Given the description of an element on the screen output the (x, y) to click on. 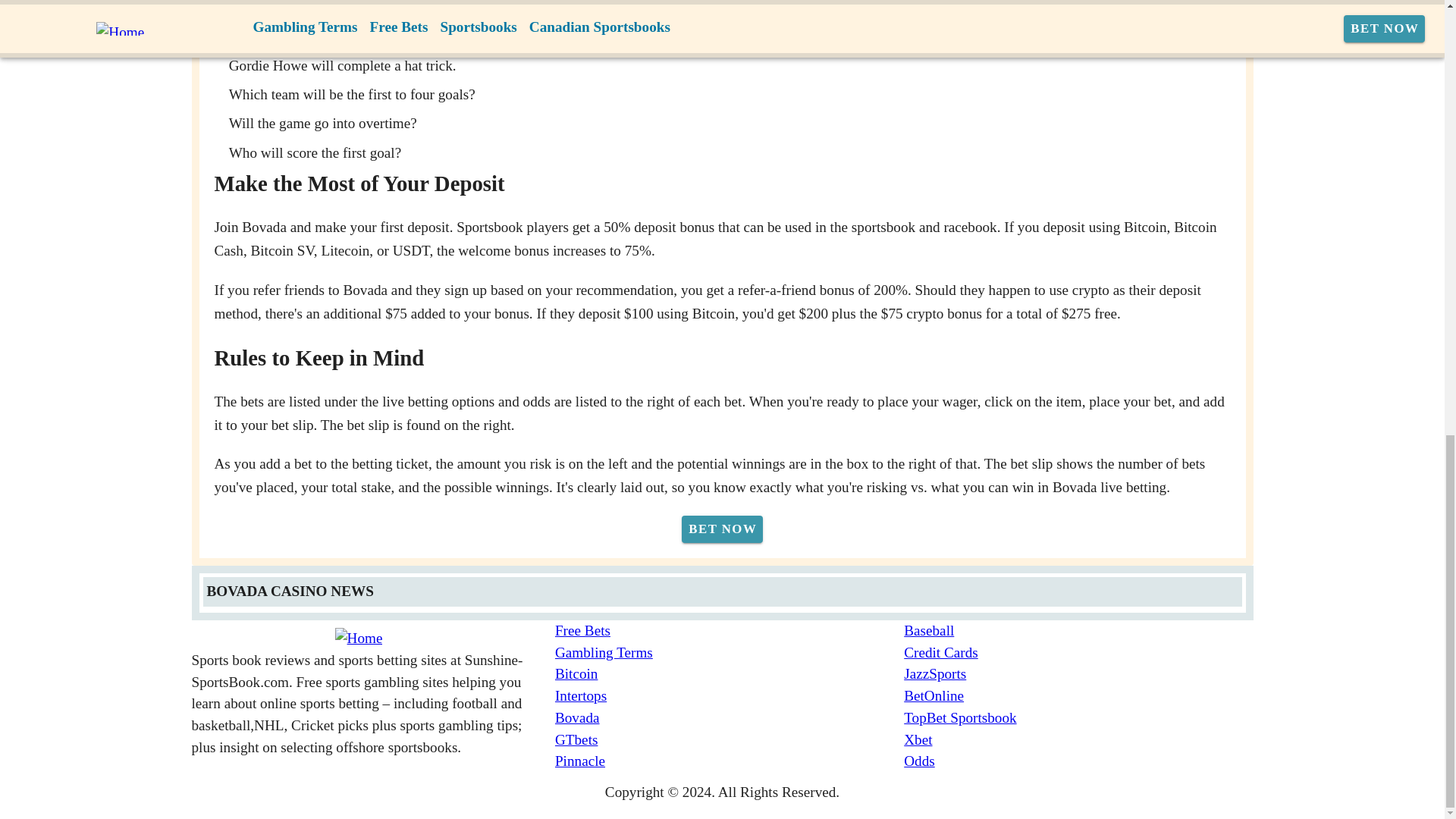
BET NOW (721, 528)
Intertops (729, 696)
JazzSports (1078, 674)
GTbets (729, 740)
Bovada (729, 718)
TopBet Sportsbook (1078, 718)
Bitcoin (729, 674)
Credit Cards (1078, 652)
BetOnline (1078, 696)
Xbet (1078, 740)
